Given the description of an element on the screen output the (x, y) to click on. 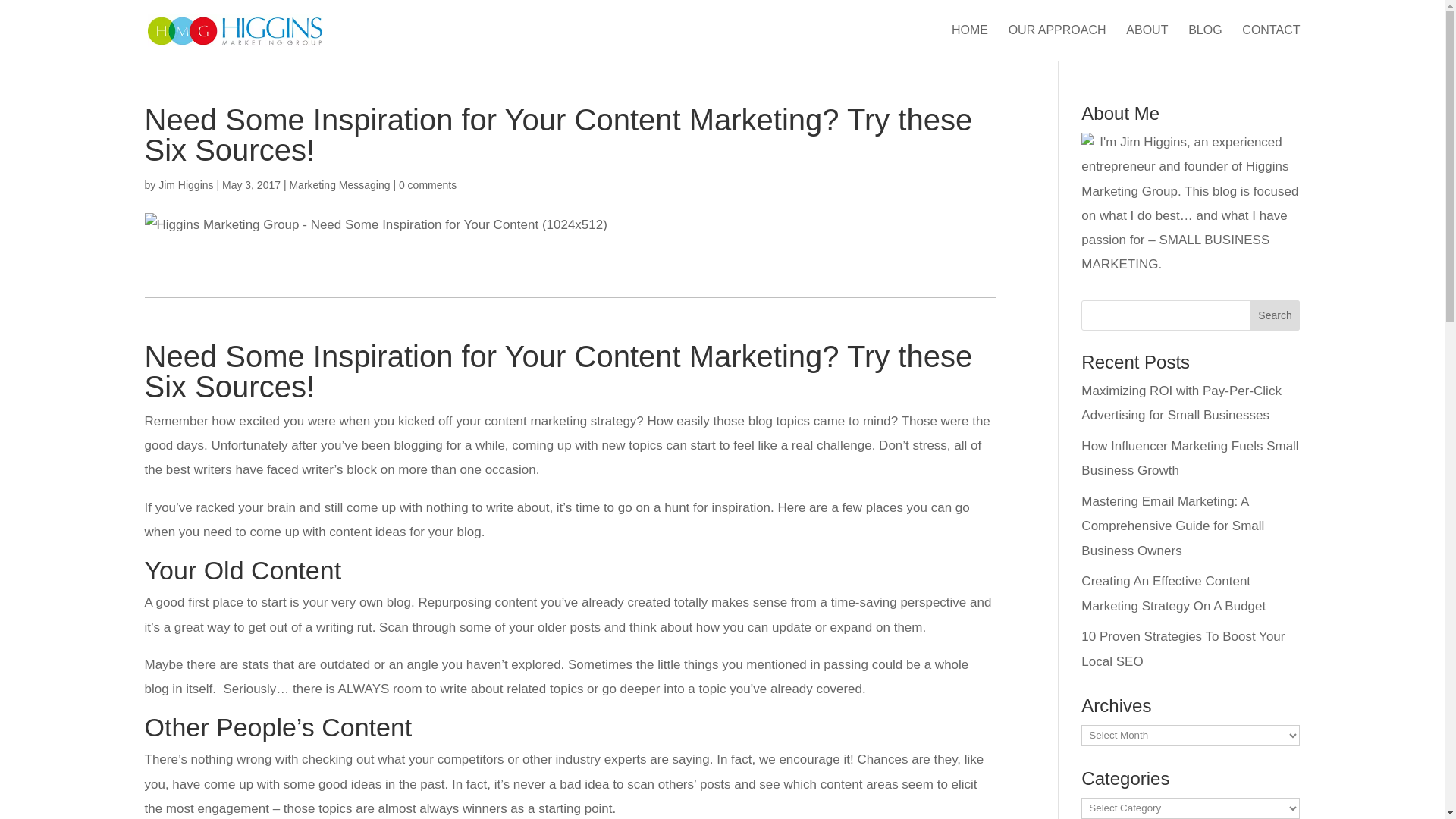
0 comments (427, 184)
CONTACT (1270, 42)
Search (1275, 315)
Search (1275, 315)
OUR APPROACH (1057, 42)
Creating An Effective Content Marketing Strategy On A Budget (1173, 593)
Marketing Messaging (339, 184)
BLOG (1204, 42)
HOME (970, 42)
